Given the description of an element on the screen output the (x, y) to click on. 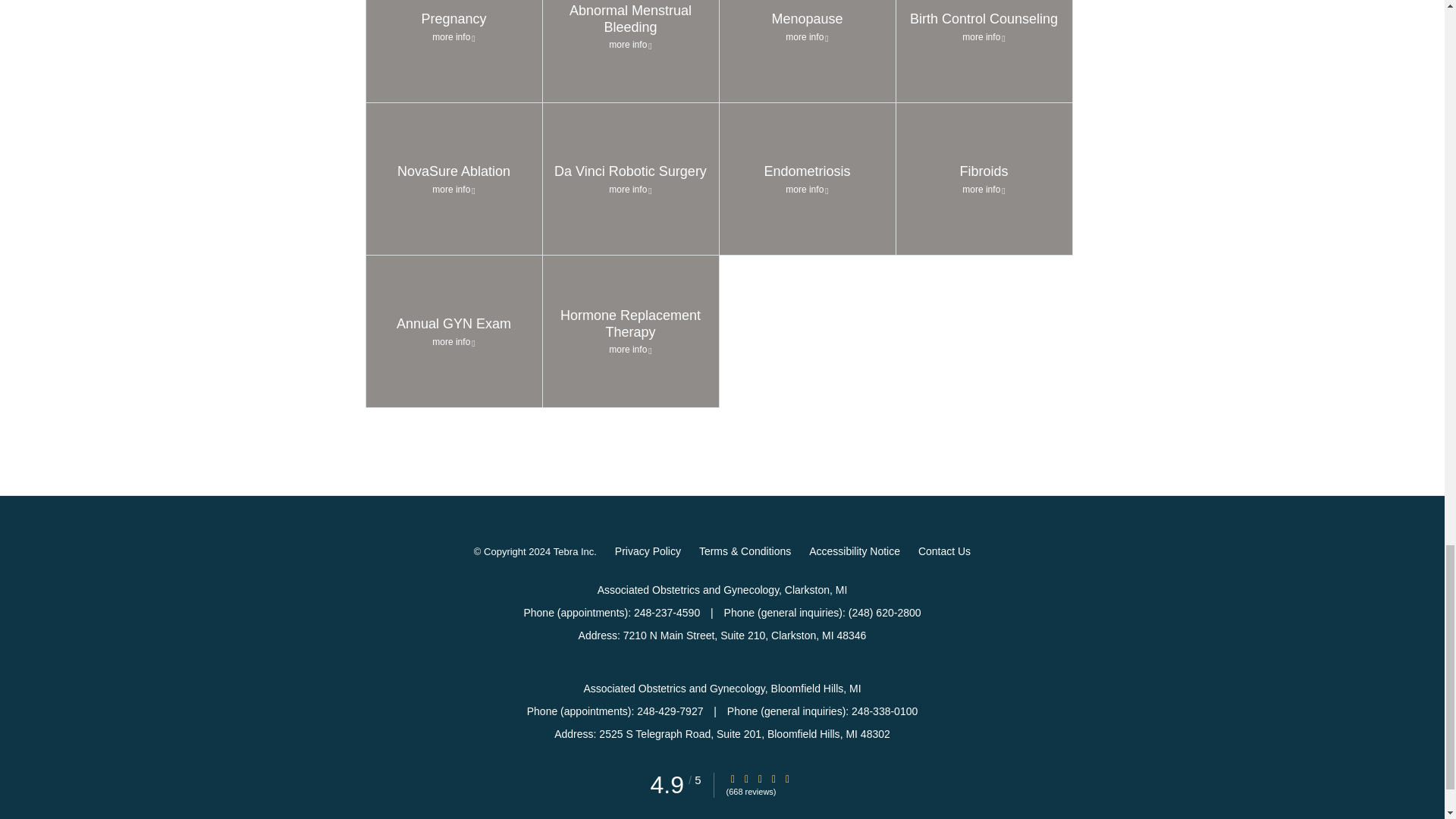
Star Rating (788, 778)
Star Rating (733, 778)
Star Rating (746, 778)
Star Rating (773, 778)
Star Rating (760, 778)
